Given the description of an element on the screen output the (x, y) to click on. 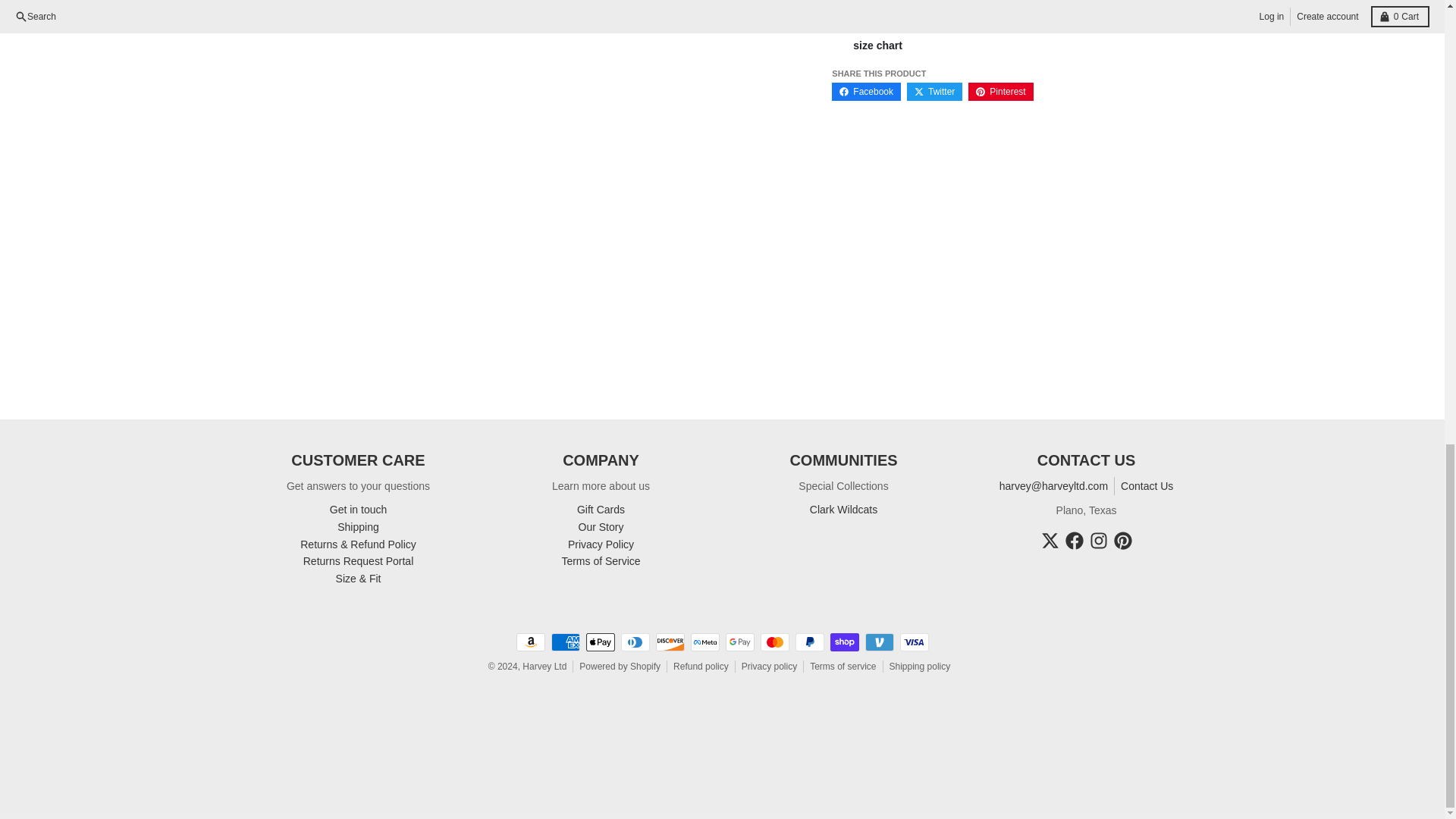
Facebook - Harvey Ltd (1073, 540)
Pinterest - Harvey Ltd (1122, 540)
Instagram - Harvey Ltd (1097, 540)
Twitter - Harvey Ltd (1049, 540)
